Given the description of an element on the screen output the (x, y) to click on. 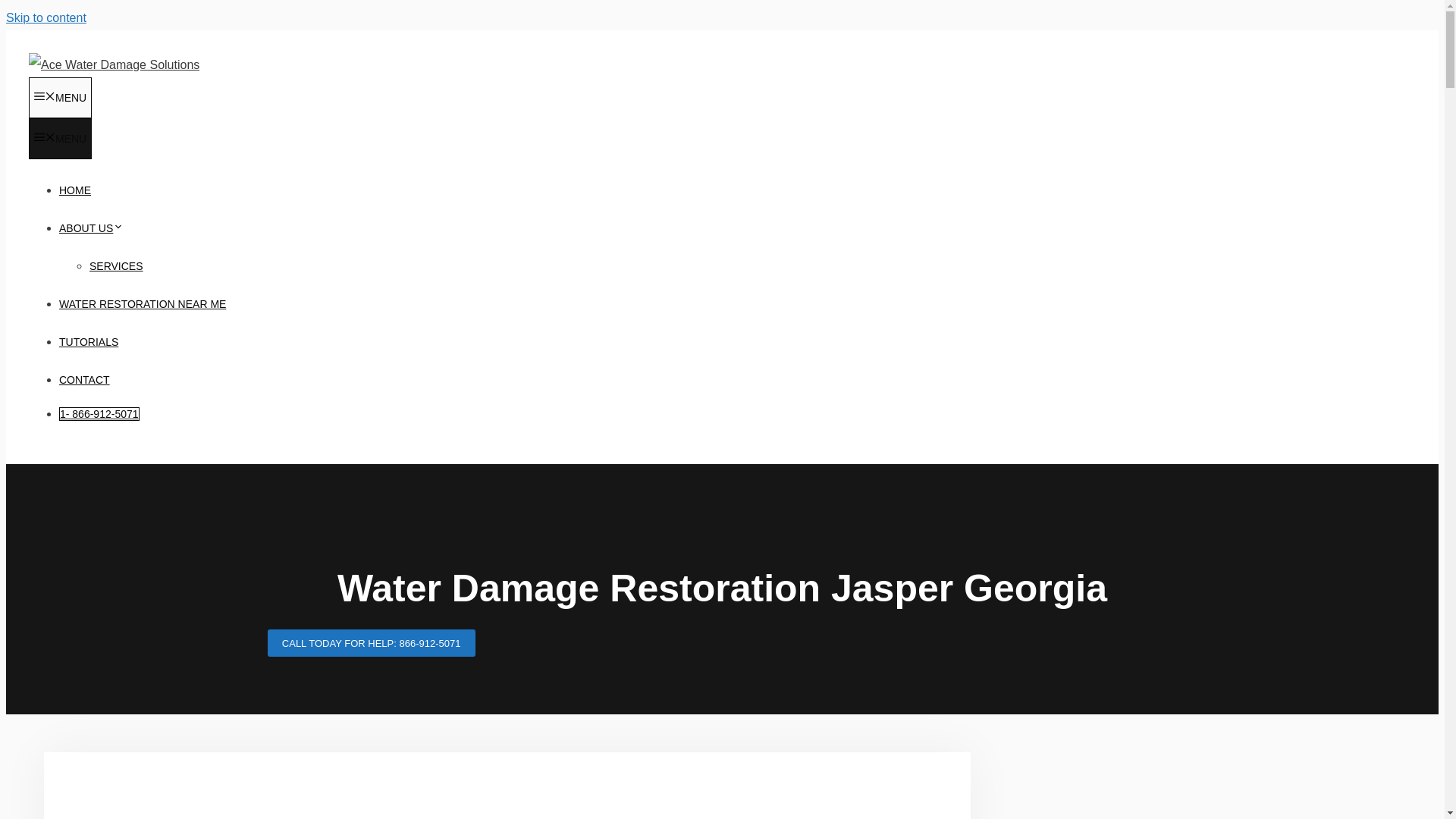
WATER RESTORATION NEAR ME (142, 304)
MENU (60, 96)
Skip to content (45, 17)
CALL TODAY FOR HELP: 866-912-5071 (370, 642)
SERVICES (115, 265)
1- 866-912-5071 (99, 413)
CONTACT (84, 379)
HOME (74, 190)
Skip to content (45, 17)
TUTORIALS (88, 341)
MENU (60, 137)
ABOUT US (91, 227)
